Given the description of an element on the screen output the (x, y) to click on. 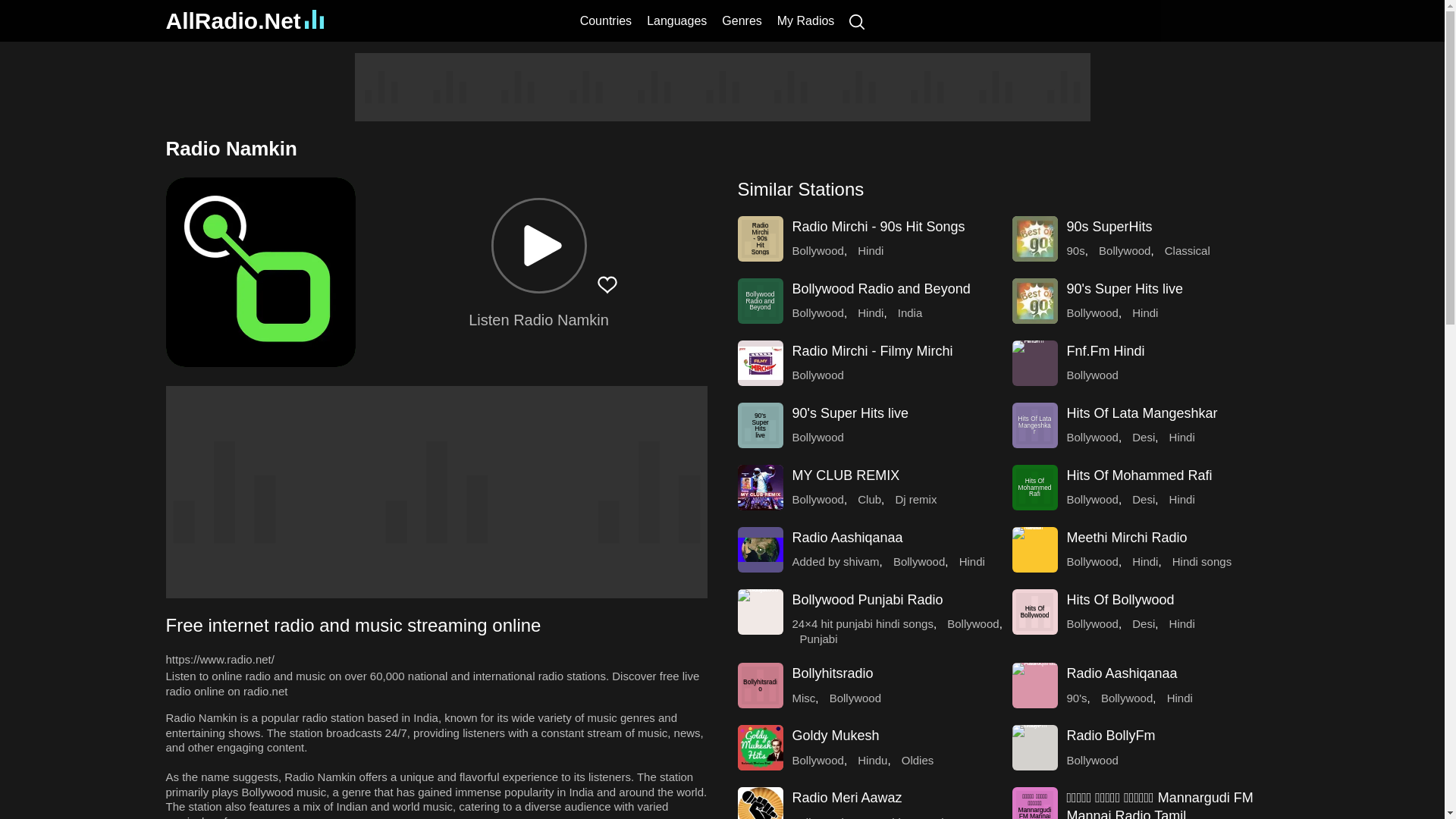
Languages (676, 20)
Hindi (870, 250)
Bollywood (1124, 250)
Classical (1186, 250)
AllRadio.Net (244, 20)
Hits Of Lata Mangeshkar (1034, 424)
Bollywood Radio and Beyond (759, 300)
90's Super Hits live (1123, 288)
90's Super Hits live (759, 424)
90s (1074, 250)
